Given the description of an element on the screen output the (x, y) to click on. 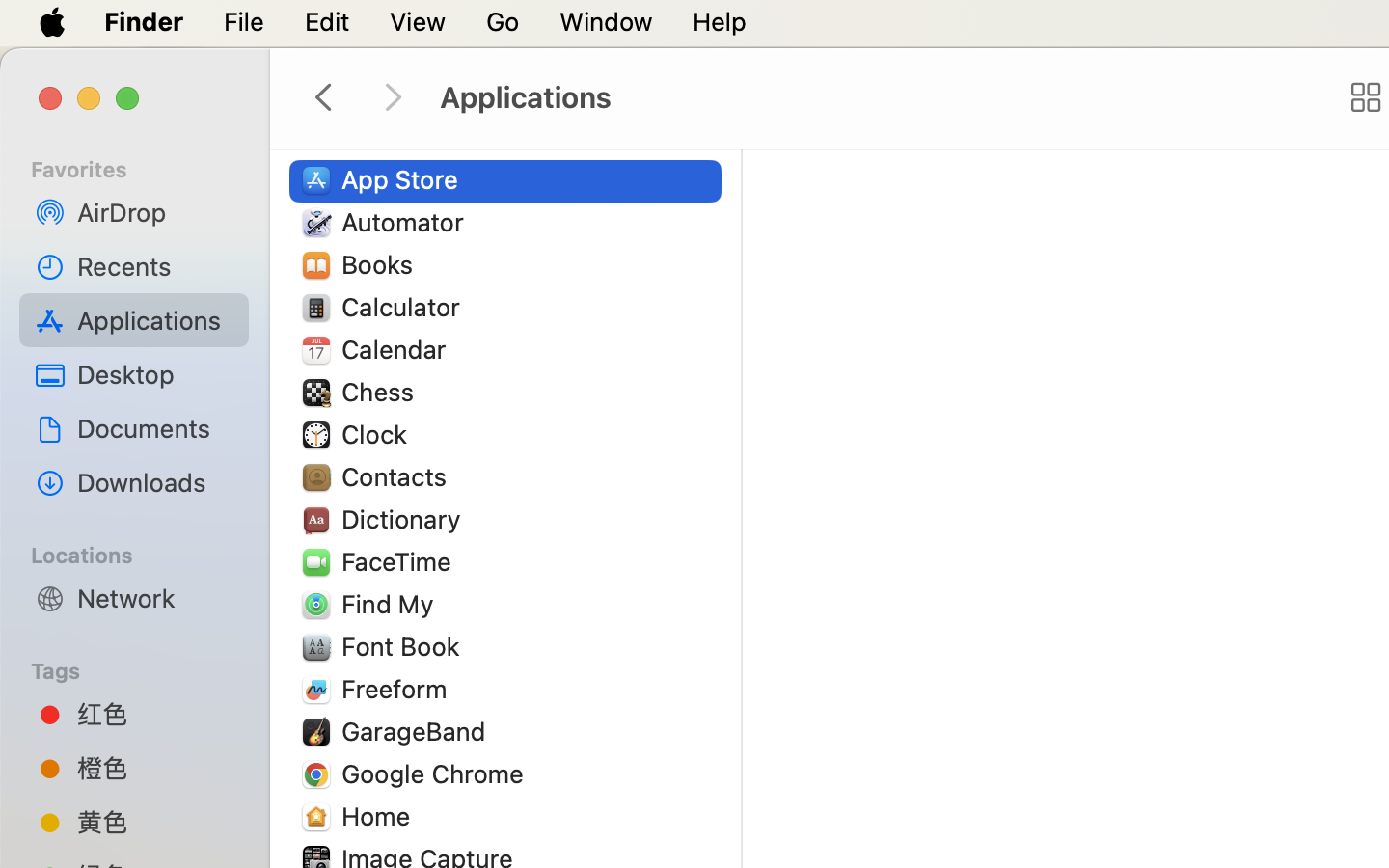
Downloads Element type: AXStaticText (155, 481)
Favorites Element type: AXStaticText (145, 166)
Books Element type: AXTextField (381, 263)
Google Chrome Element type: AXTextField (436, 773)
